Given the description of an element on the screen output the (x, y) to click on. 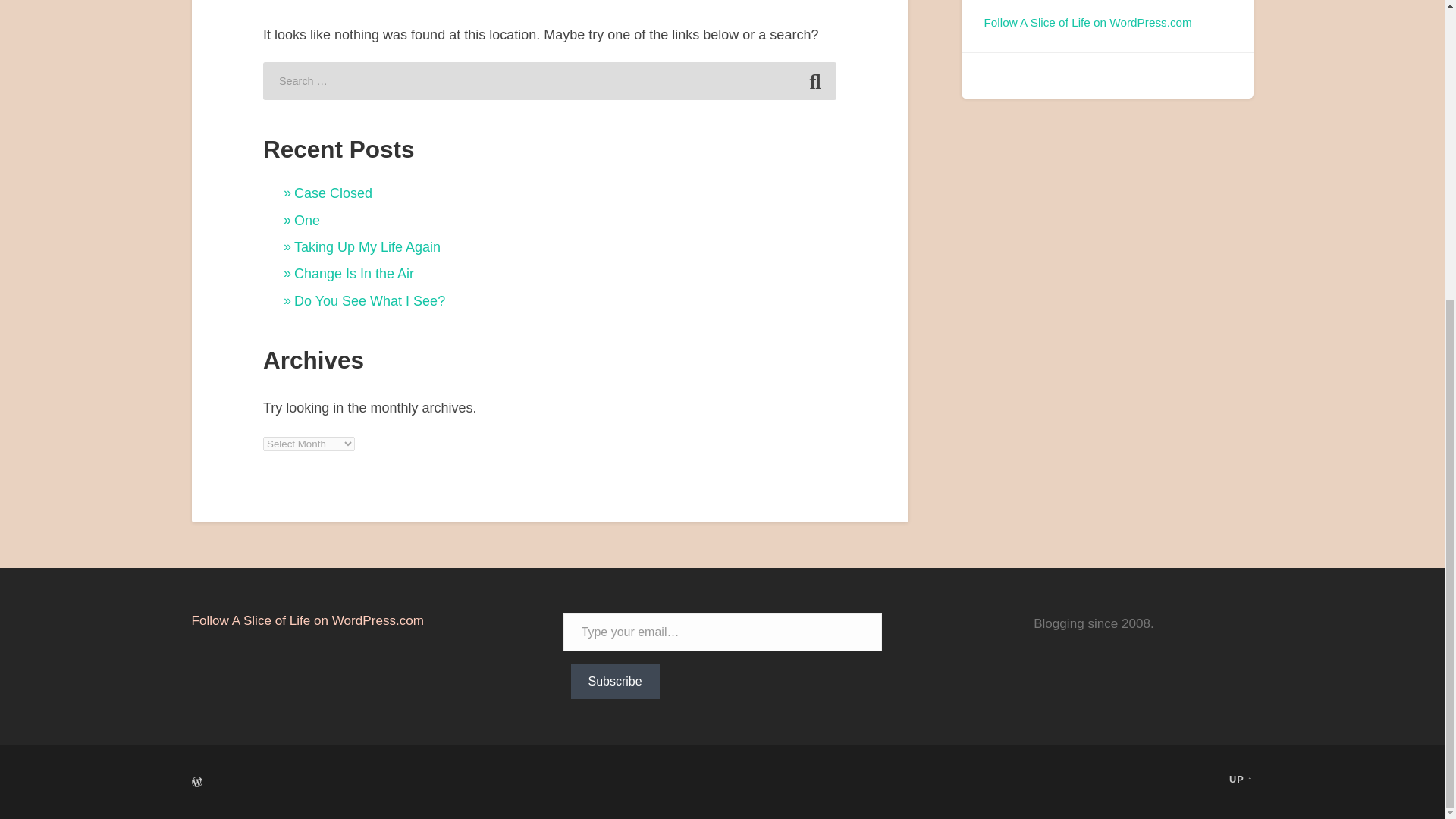
To the top (1240, 778)
Follow A Slice of Life on WordPress.com (1088, 21)
One (307, 220)
Change Is In the Air (353, 273)
Search (815, 81)
Case Closed (333, 192)
Search (815, 81)
Follow A Slice of Life on WordPress.com (306, 620)
Taking Up My Life Again (367, 246)
Search (815, 81)
